Given the description of an element on the screen output the (x, y) to click on. 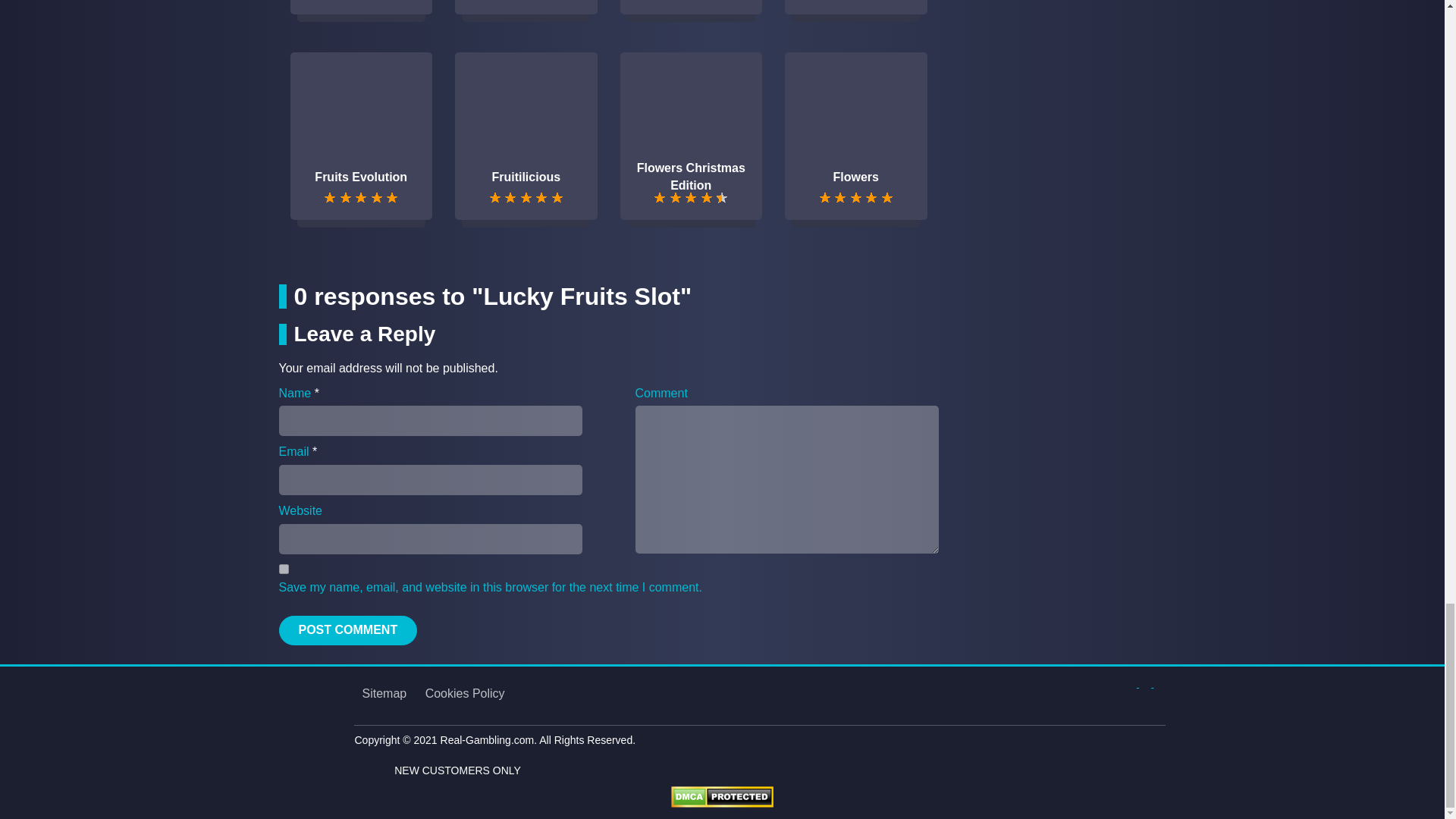
Post Comment (348, 630)
yes (283, 569)
DMCA.com Protection Status (722, 796)
